Given the description of an element on the screen output the (x, y) to click on. 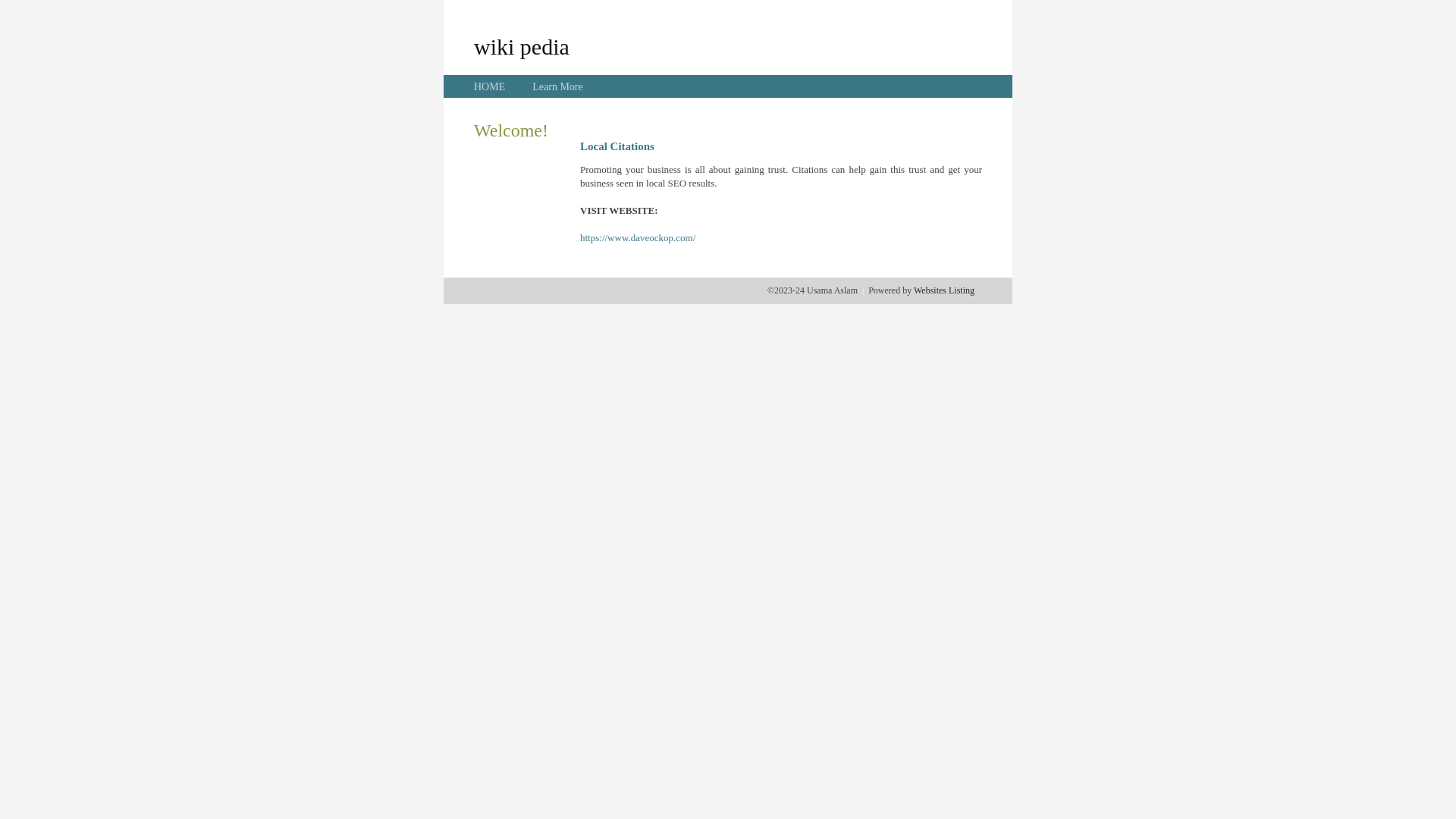
Learn More Element type: text (557, 86)
wiki pedia Element type: text (521, 46)
HOME Element type: text (489, 86)
https://www.daveockop.com/ Element type: text (637, 237)
Websites Listing Element type: text (943, 290)
